Given the description of an element on the screen output the (x, y) to click on. 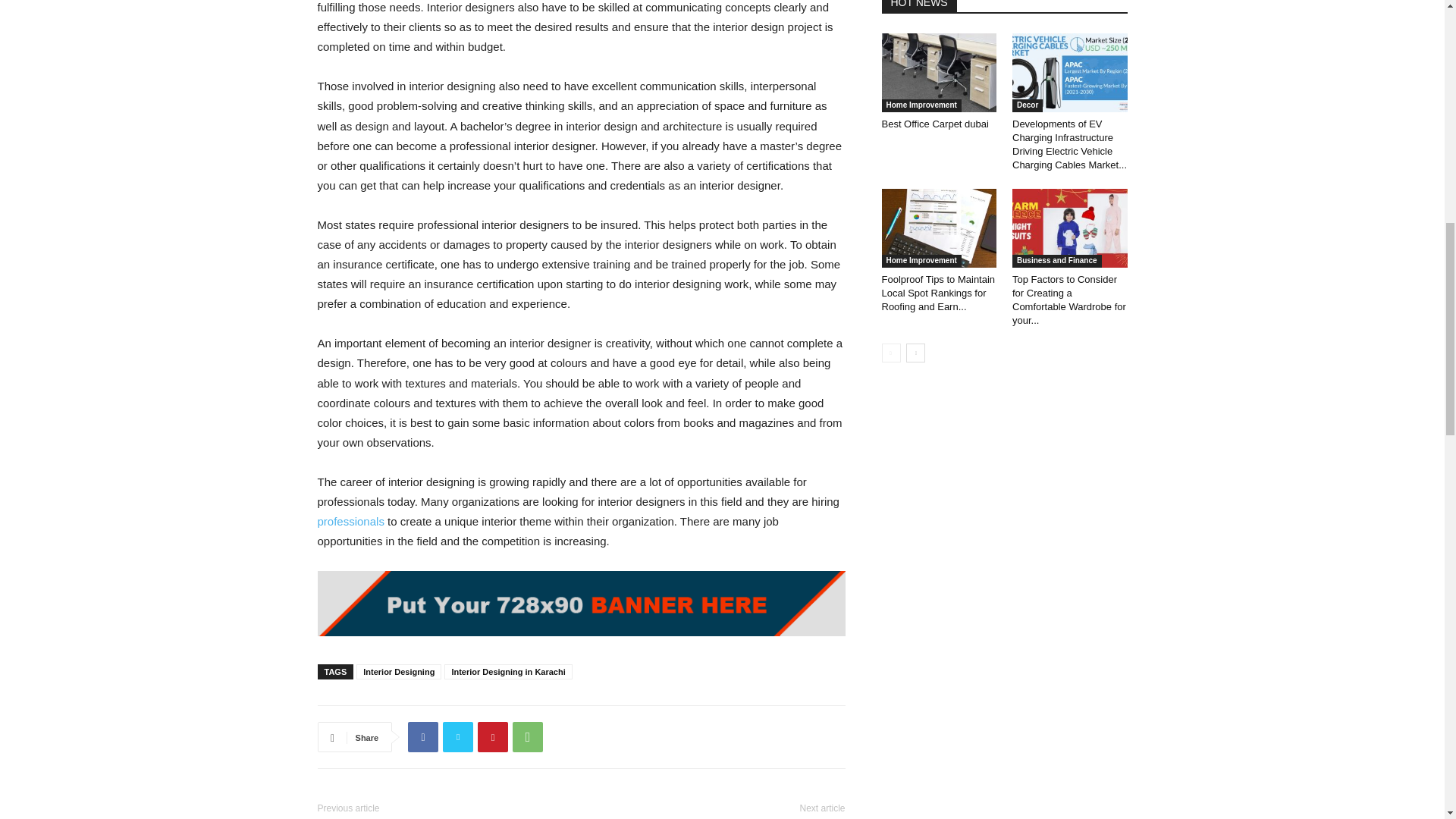
Pinterest (492, 736)
Facebook (422, 736)
Twitter (457, 736)
